Given the description of an element on the screen output the (x, y) to click on. 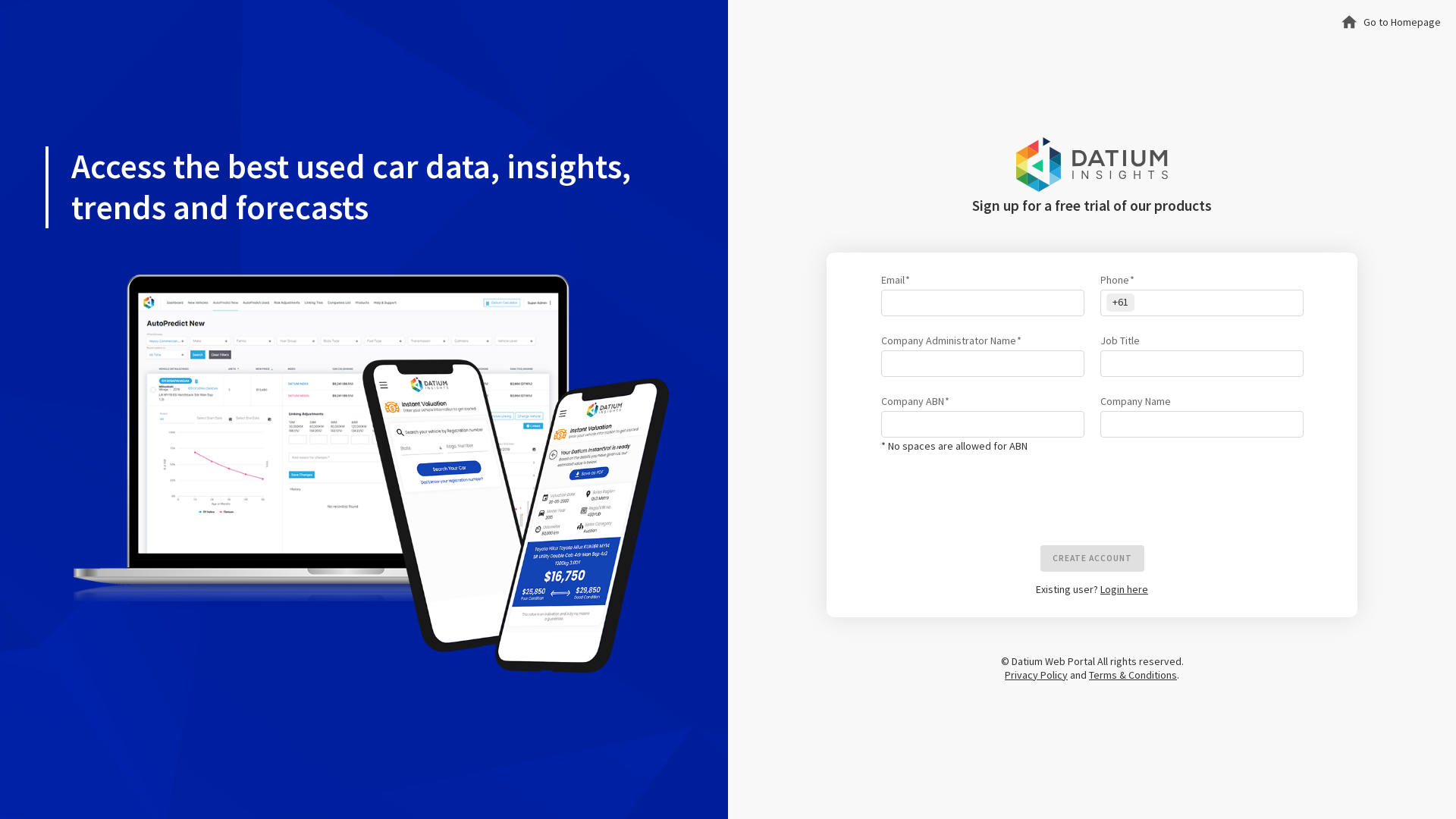
Go to Homepage Element type: text (1390, 21)
Terms & Conditions Element type: text (1132, 674)
CREATE ACCOUNT Element type: text (1092, 558)
Privacy Policy Element type: text (1035, 674)
Login here Element type: text (1124, 589)
